Given the description of an element on the screen output the (x, y) to click on. 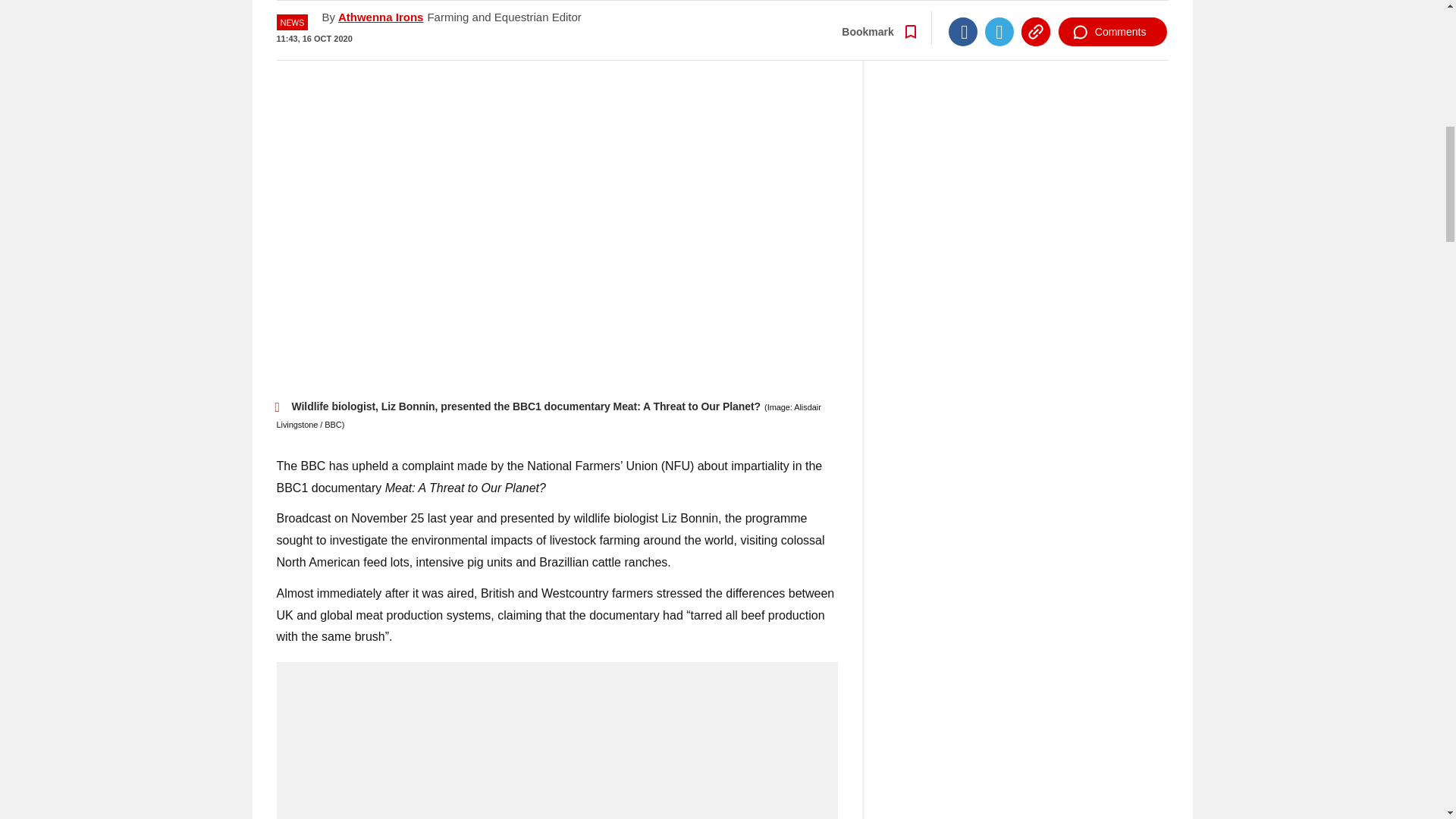
Go (730, 2)
